Given the description of an element on the screen output the (x, y) to click on. 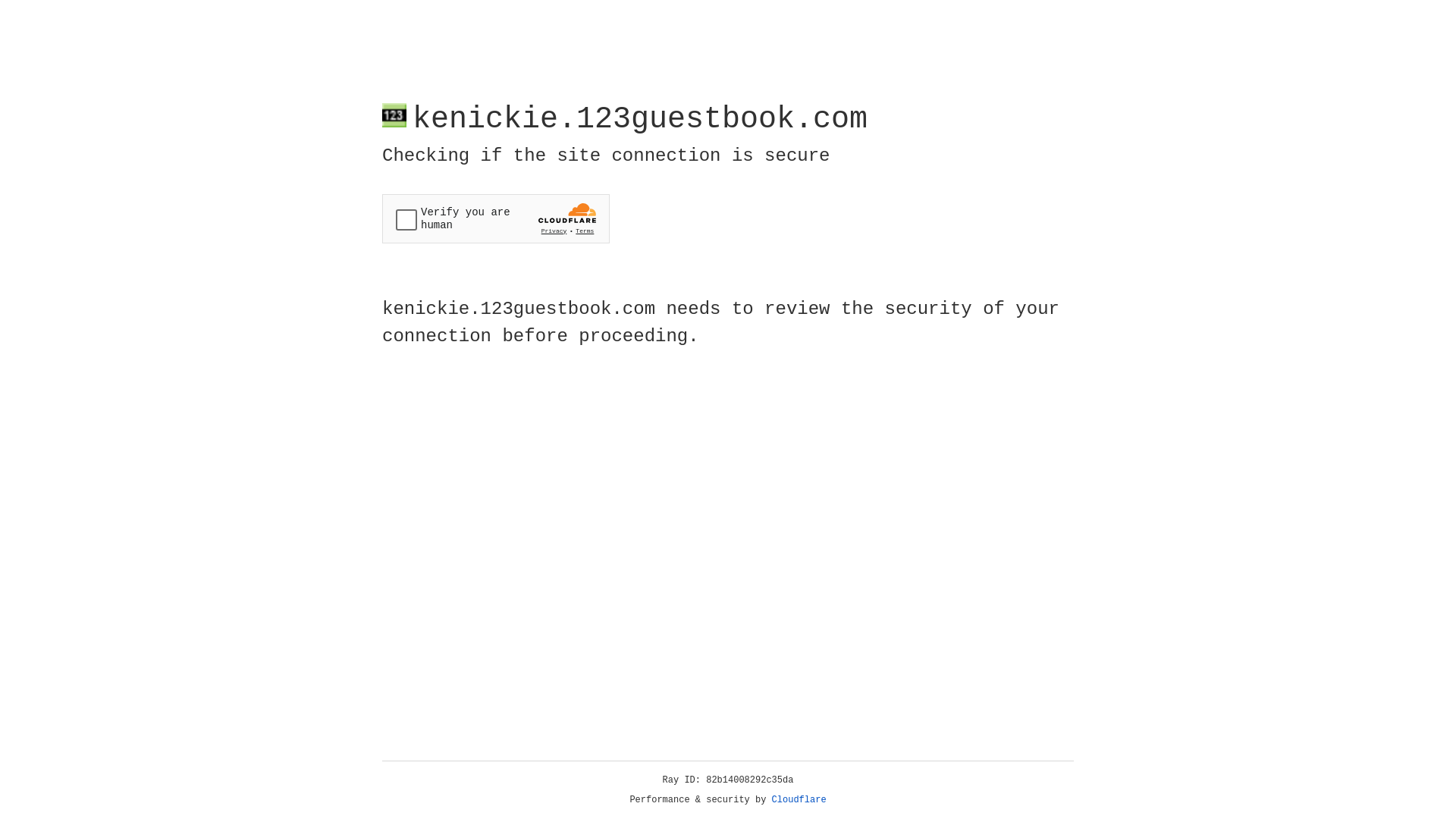
Cloudflare Element type: text (798, 799)
Widget containing a Cloudflare security challenge Element type: hover (495, 218)
